Given the description of an element on the screen output the (x, y) to click on. 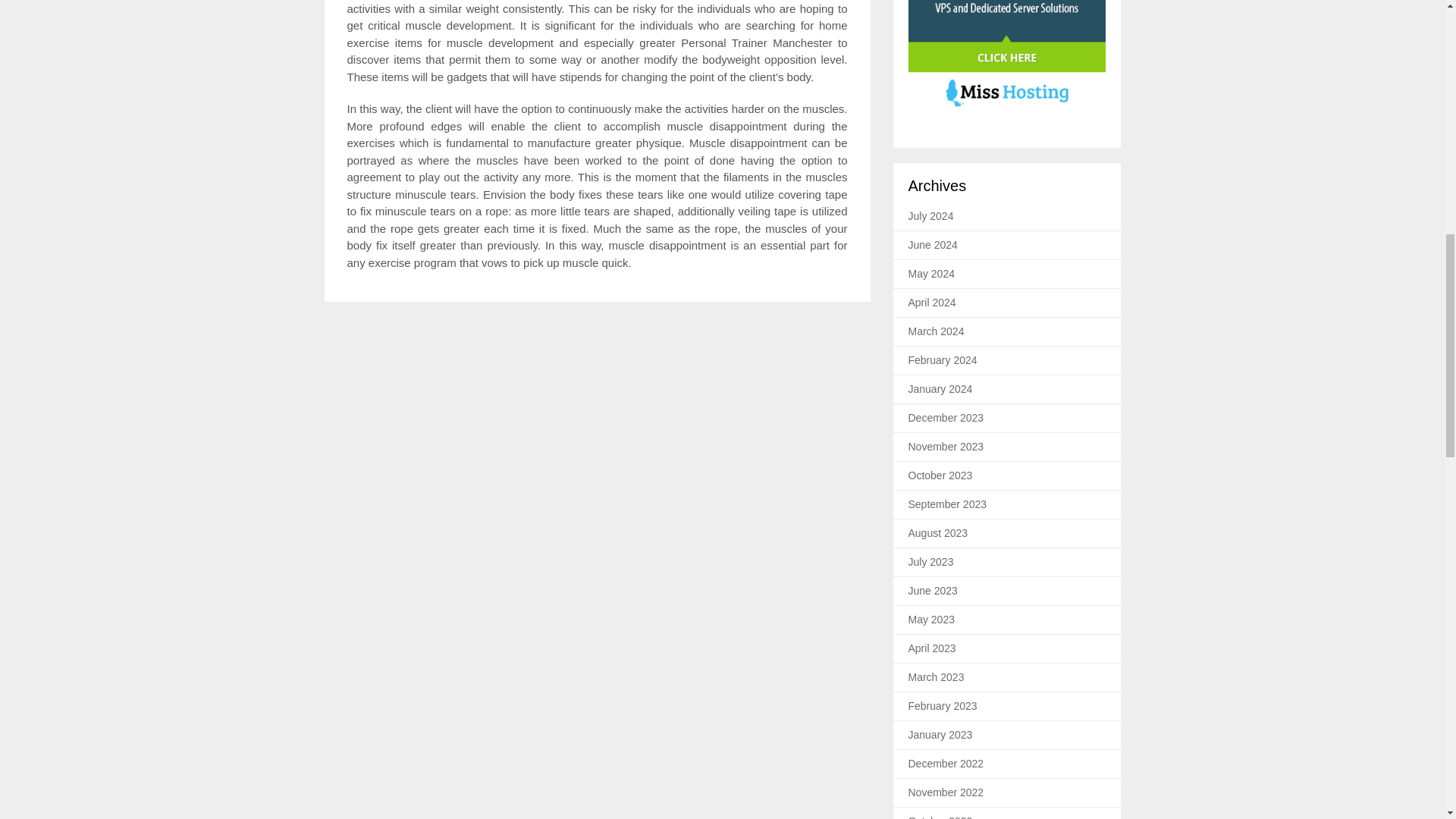
March 2024 (935, 331)
April 2023 (932, 648)
June 2023 (933, 590)
February 2024 (942, 359)
March 2023 (935, 676)
August 2023 (938, 532)
July 2023 (930, 562)
September 2023 (947, 503)
December 2022 (946, 763)
November 2022 (946, 792)
May 2024 (931, 273)
April 2024 (932, 302)
January 2024 (940, 388)
December 2023 (946, 417)
May 2023 (931, 619)
